Given the description of an element on the screen output the (x, y) to click on. 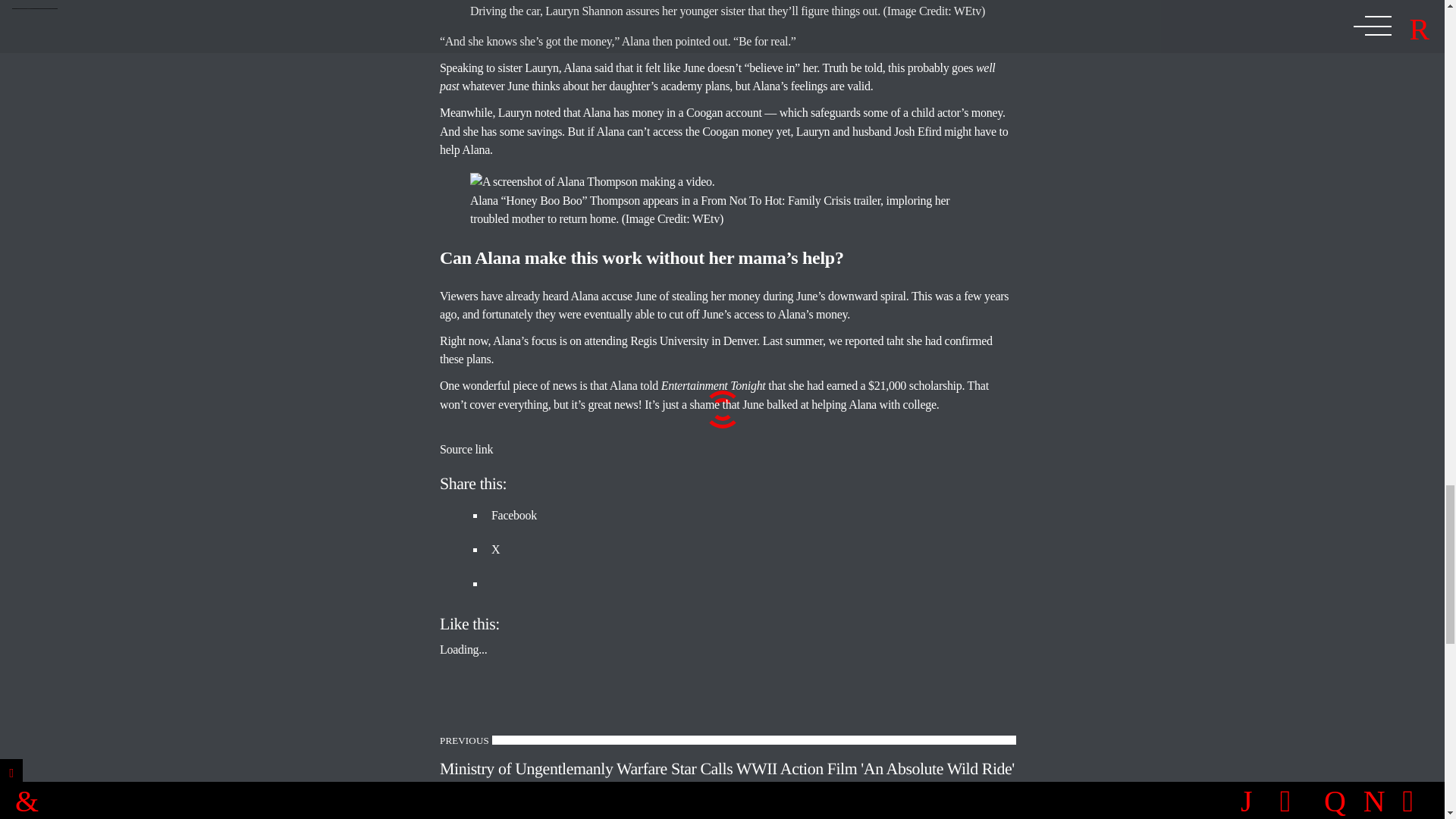
Facebook (514, 514)
Source link (466, 449)
Click to share on Facebook (514, 514)
Alana accuse June of stealing her money (665, 295)
